Given the description of an element on the screen output the (x, y) to click on. 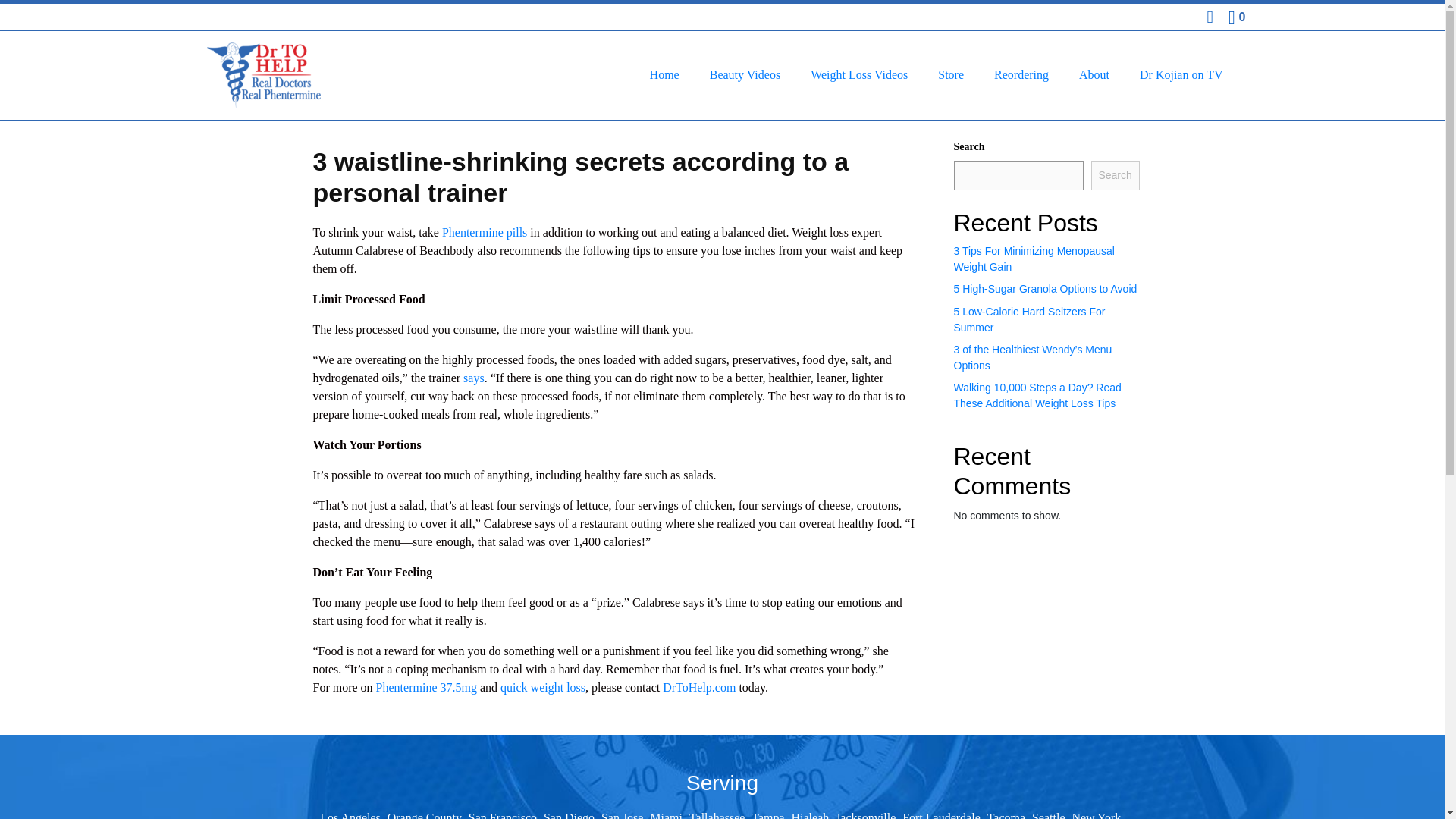
Home (664, 74)
San Diego (568, 815)
Search (1115, 175)
Weight Loss Programs New York City (1096, 815)
Jacksonville (865, 815)
Phentermine Weight Loss in San Francisco (502, 815)
Fast Weight Loss Solutions for Orange County Residents (424, 815)
0 (1236, 17)
Weight Loss Pills Tacoma Residents (1006, 815)
Phentermine Weight Loss in Fort Lauderdale (940, 815)
